Given the description of an element on the screen output the (x, y) to click on. 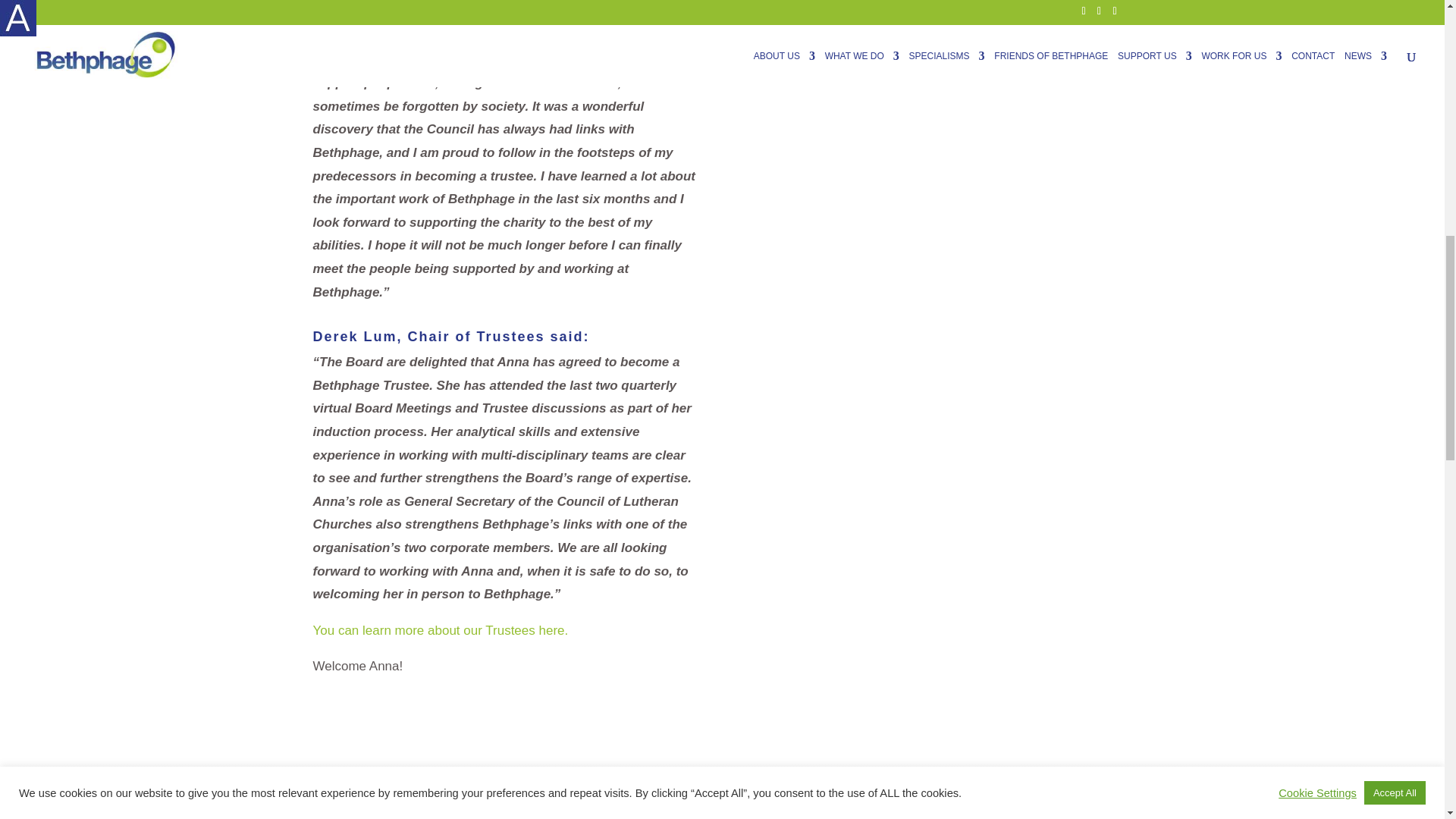
Bethphage Trustees (440, 630)
Anna Krauss (986, 31)
